Given the description of an element on the screen output the (x, y) to click on. 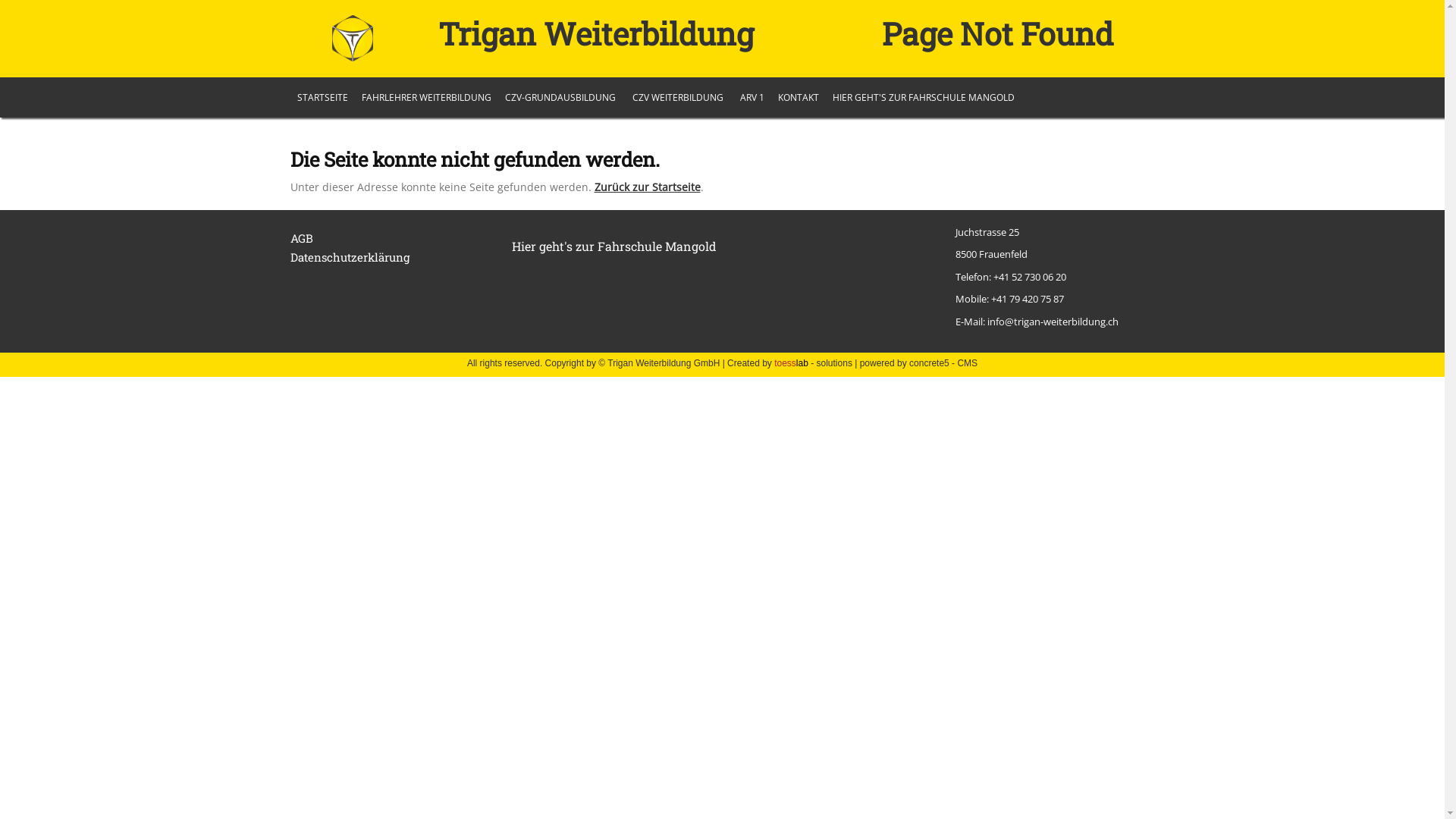
+41 79 420 75 87 Element type: text (1027, 298)
info@trigan-weiterbildung.ch Element type: text (1052, 321)
Hier geht's zur Fahrschule Mangold Element type: text (613, 246)
CZV-GRUNDAUSBILDUNG Element type: text (559, 97)
HIER GEHT'S ZUR FAHRSCHULE MANGOLD Element type: text (922, 97)
+41 52 730 06 20 Element type: text (1029, 276)
FAHRLEHRER WEITERBILDUNG Element type: text (426, 97)
ARV 1 Element type: text (751, 97)
CZV WEITERBILDUNG Element type: text (676, 97)
KONTAKT Element type: text (797, 97)
AGB Element type: text (300, 237)
STARTSEITE Element type: text (321, 97)
concrete5 - CMS Element type: text (943, 362)
toesslab - solutions Element type: text (813, 362)
